Given the description of an element on the screen output the (x, y) to click on. 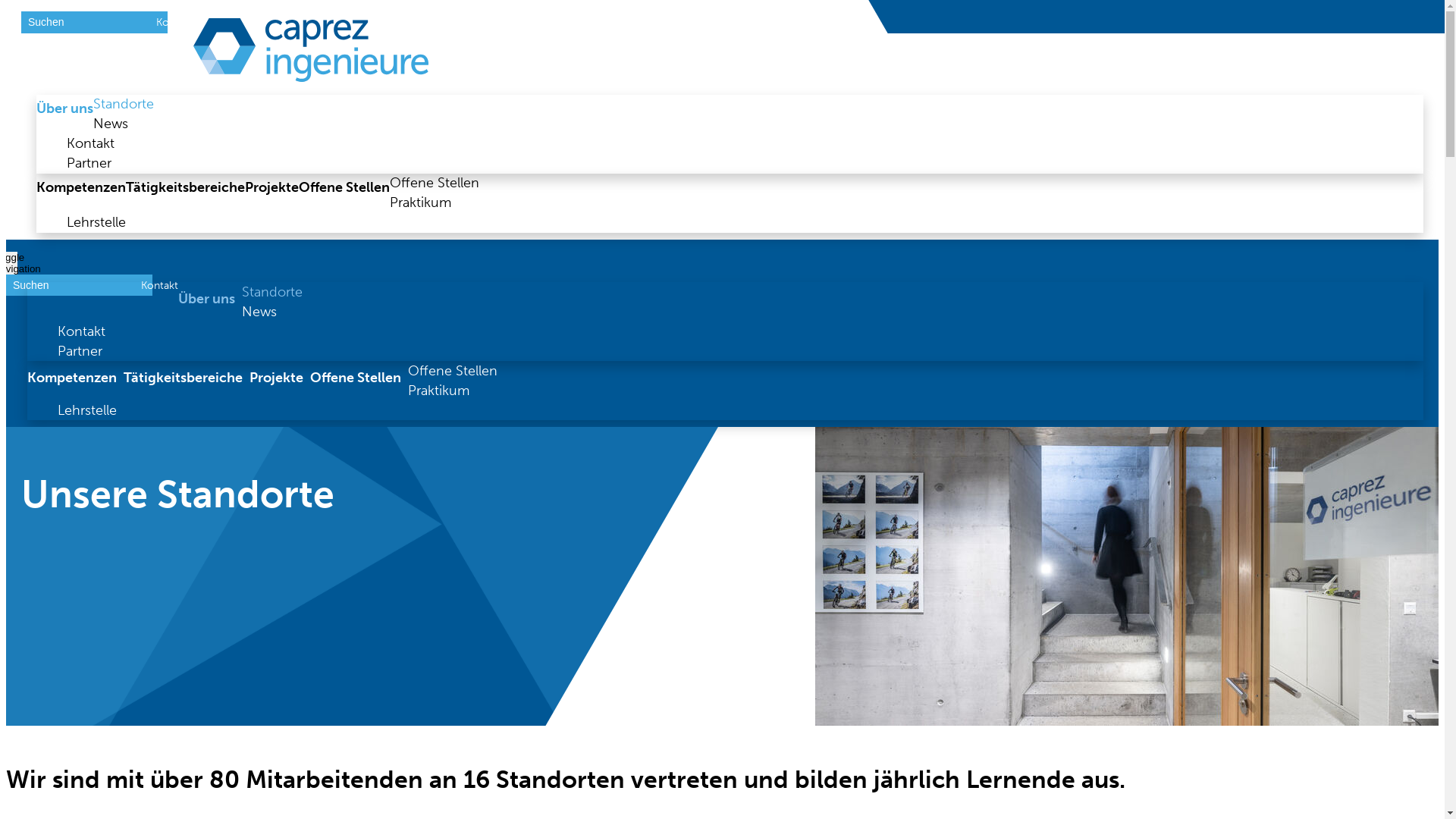
Projekte Element type: text (279, 377)
Offene Stellen Element type: text (434, 182)
Kompetenzen Element type: text (75, 377)
Kontakt Element type: text (159, 285)
Projekte Element type: text (271, 187)
News Element type: text (262, 311)
Partner Element type: text (88, 162)
Standorte Element type: text (123, 103)
Praktikum Element type: text (441, 390)
Standorte Element type: text (275, 291)
Kompetenzen Element type: text (80, 187)
Offene Stellen Element type: text (343, 187)
Offene Stellen Element type: text (358, 377)
News Element type: text (110, 123)
Lehrstelle Element type: text (95, 222)
Kontakt Element type: text (90, 143)
Offene Stellen Element type: text (455, 370)
Partner Element type: text (83, 350)
Lehrstelle Element type: text (90, 410)
Praktikum Element type: text (420, 202)
Kontakt Element type: text (84, 331)
Kontakt Element type: text (174, 21)
